Given the description of an element on the screen output the (x, y) to click on. 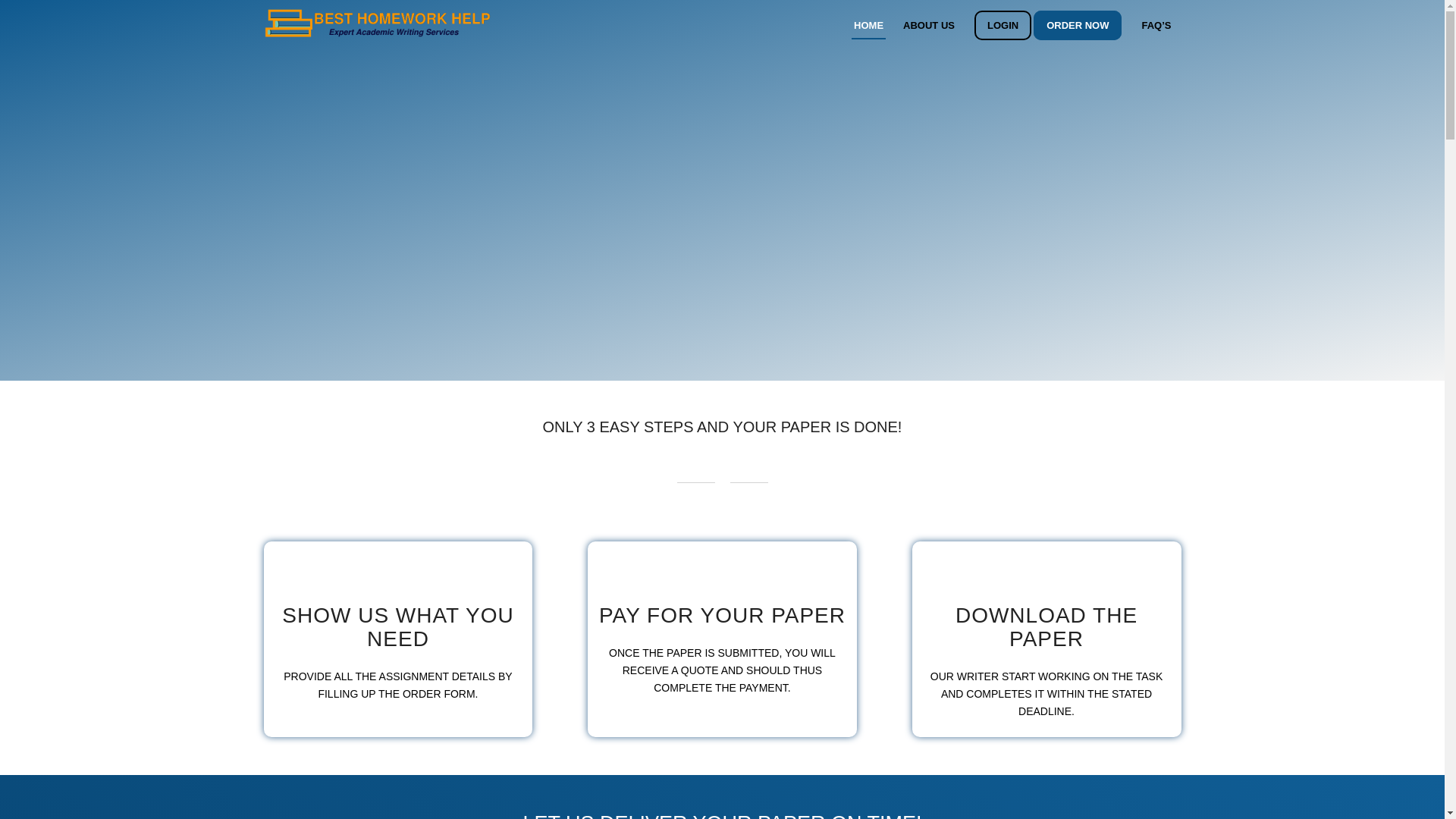
LOGIN (1002, 24)
ABOUT US (928, 24)
HOME (868, 24)
ORDER NOW (1082, 24)
